Given the description of an element on the screen output the (x, y) to click on. 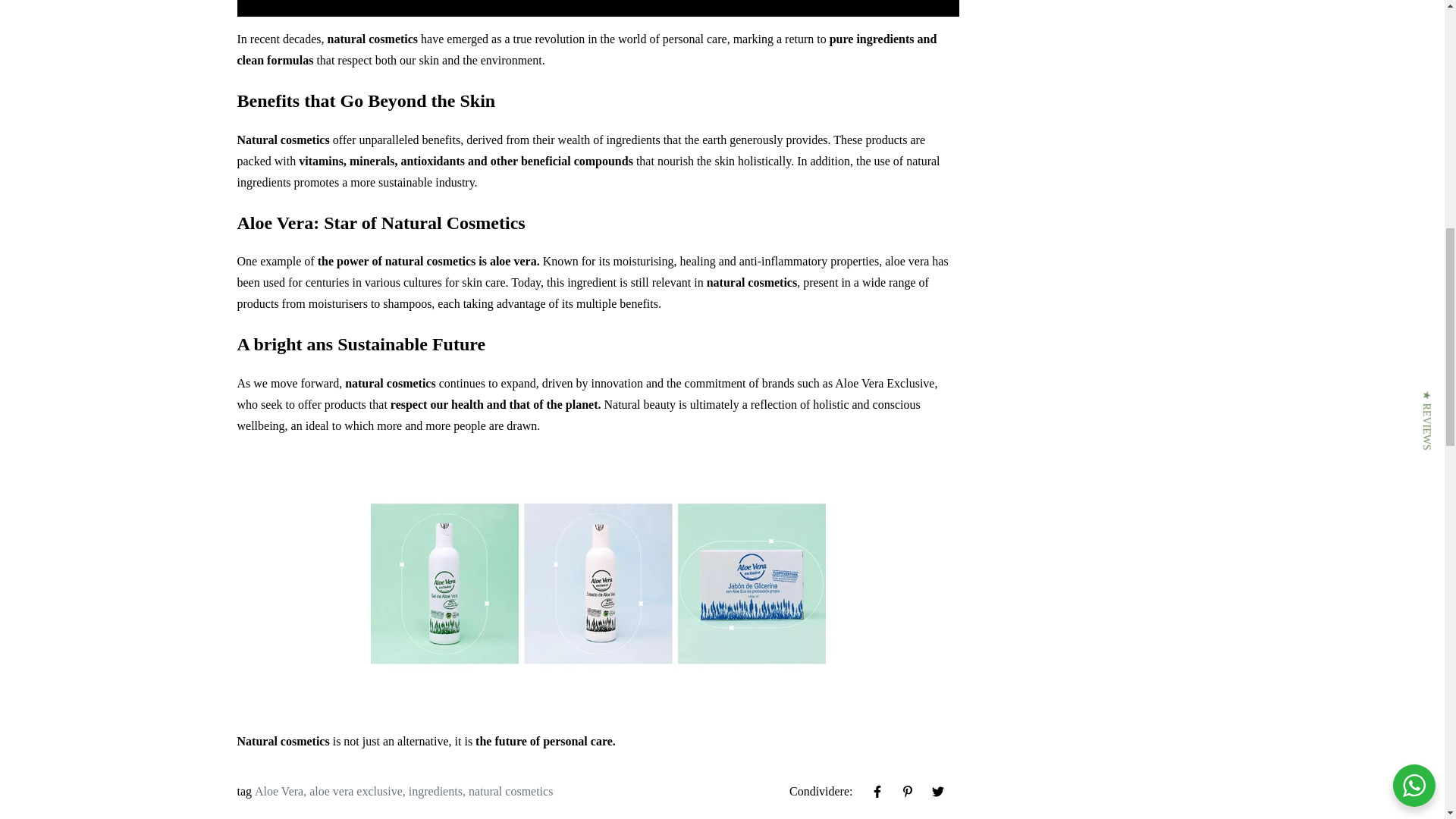
Aloe Vera Products (597, 581)
